Given the description of an element on the screen output the (x, y) to click on. 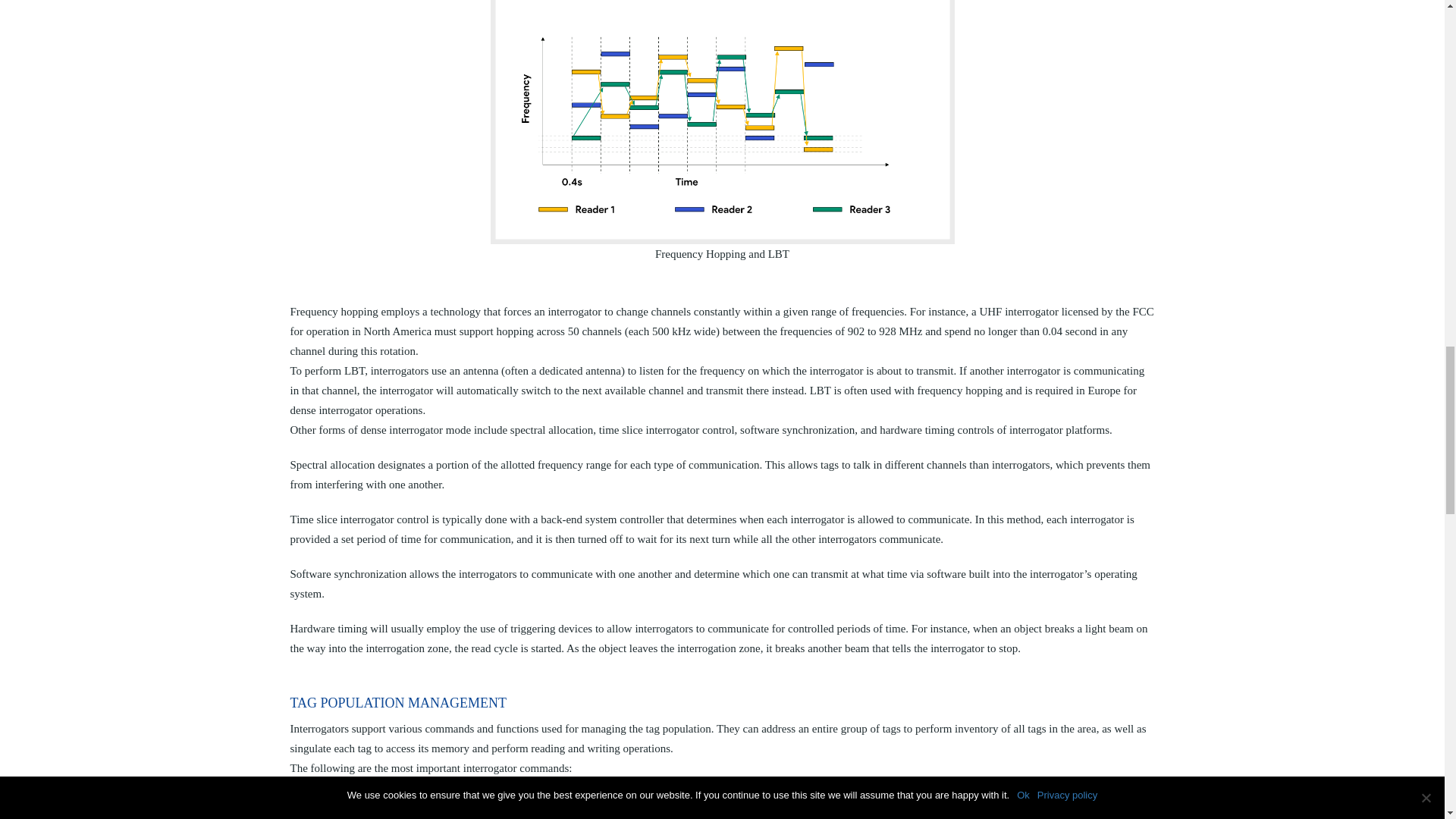
DENSE INTERROGATOR MODE (722, 119)
